Given the description of an element on the screen output the (x, y) to click on. 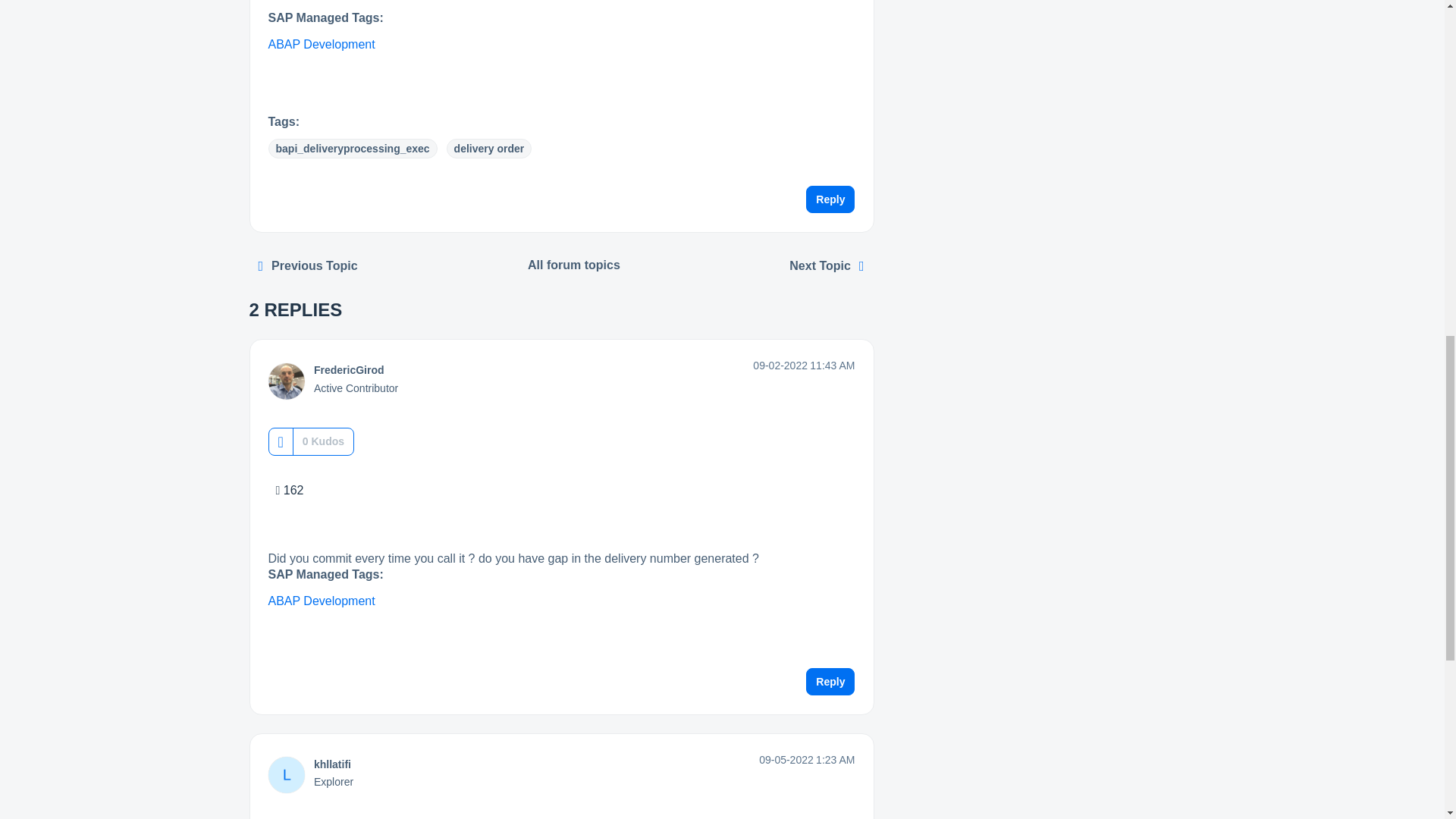
Application Development Discussions (574, 265)
All forum topics (574, 265)
Next Topic (825, 265)
Reply (830, 198)
How To Display Data Of One Row In a Table ? (308, 265)
FredericGirod (349, 369)
khllatifi (332, 764)
ABAP Development (321, 43)
delivery order (489, 148)
Reply (830, 681)
Previous Topic (308, 265)
ABAP Development (321, 600)
